Given the description of an element on the screen output the (x, y) to click on. 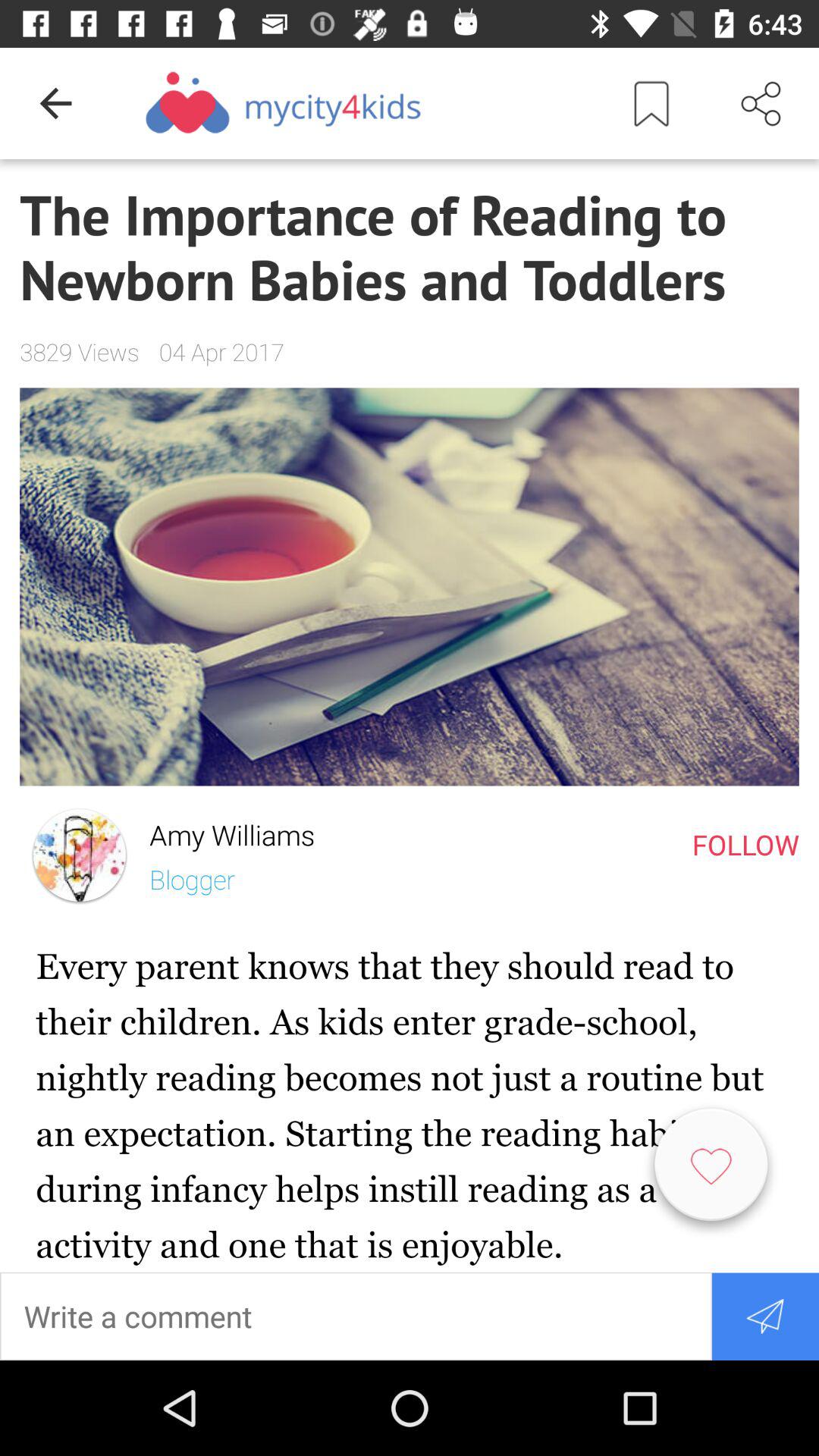
open the item below the follow icon (710, 1170)
